Given the description of an element on the screen output the (x, y) to click on. 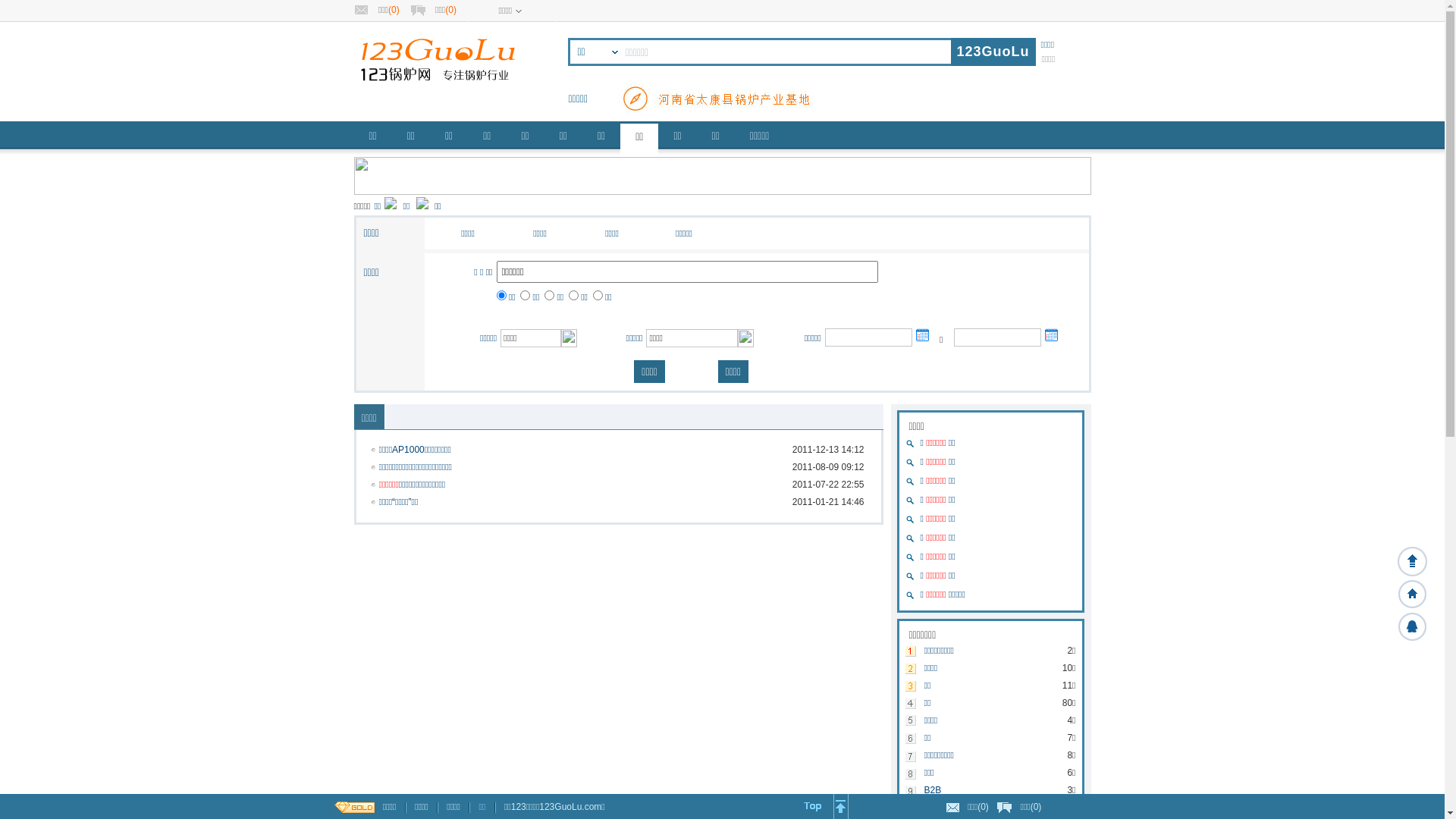
123GuoLu Element type: text (992, 51)
B2B Element type: text (980, 795)
